Given the description of an element on the screen output the (x, y) to click on. 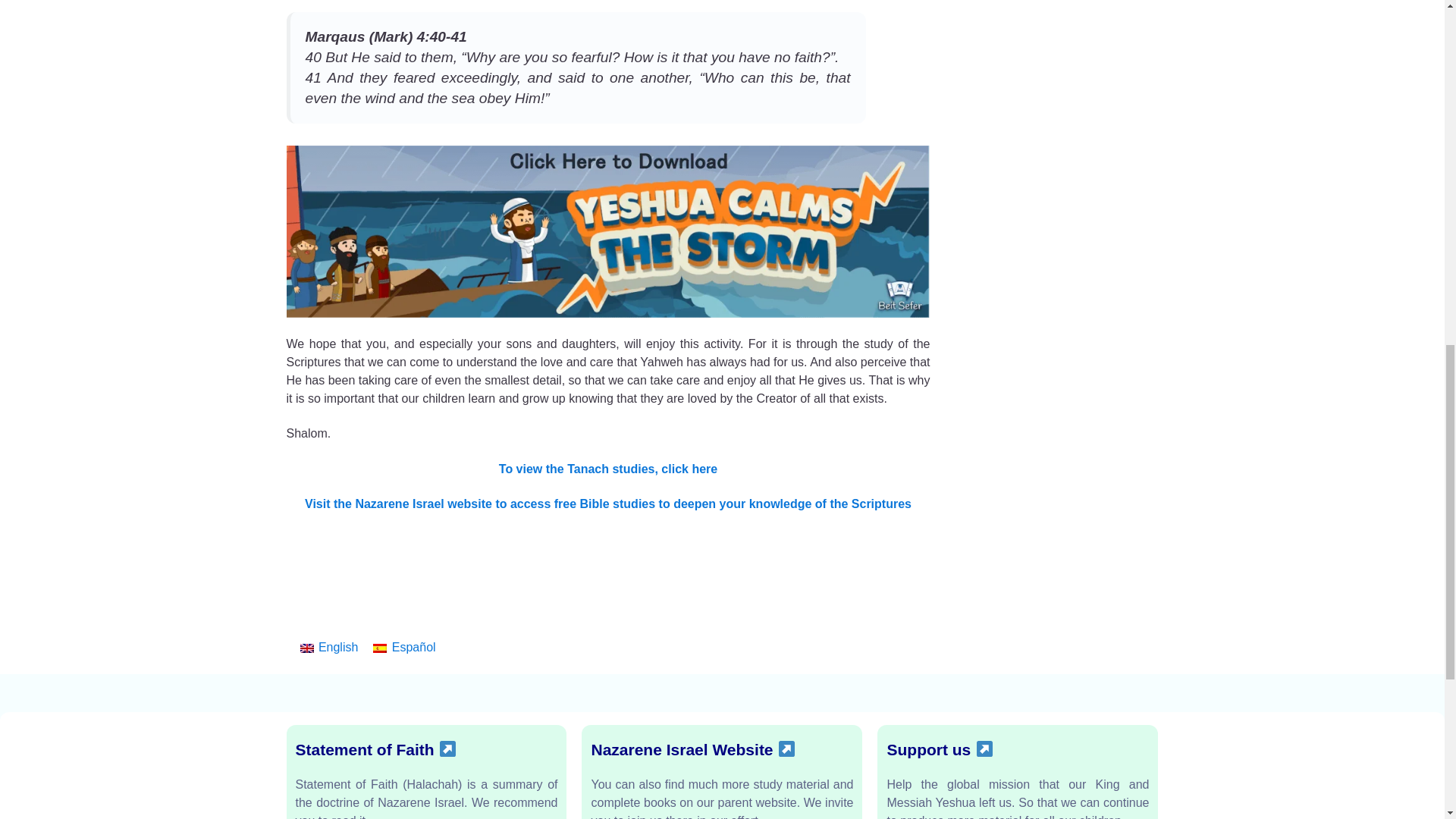
Scroll back to top (1406, 725)
